Given the description of an element on the screen output the (x, y) to click on. 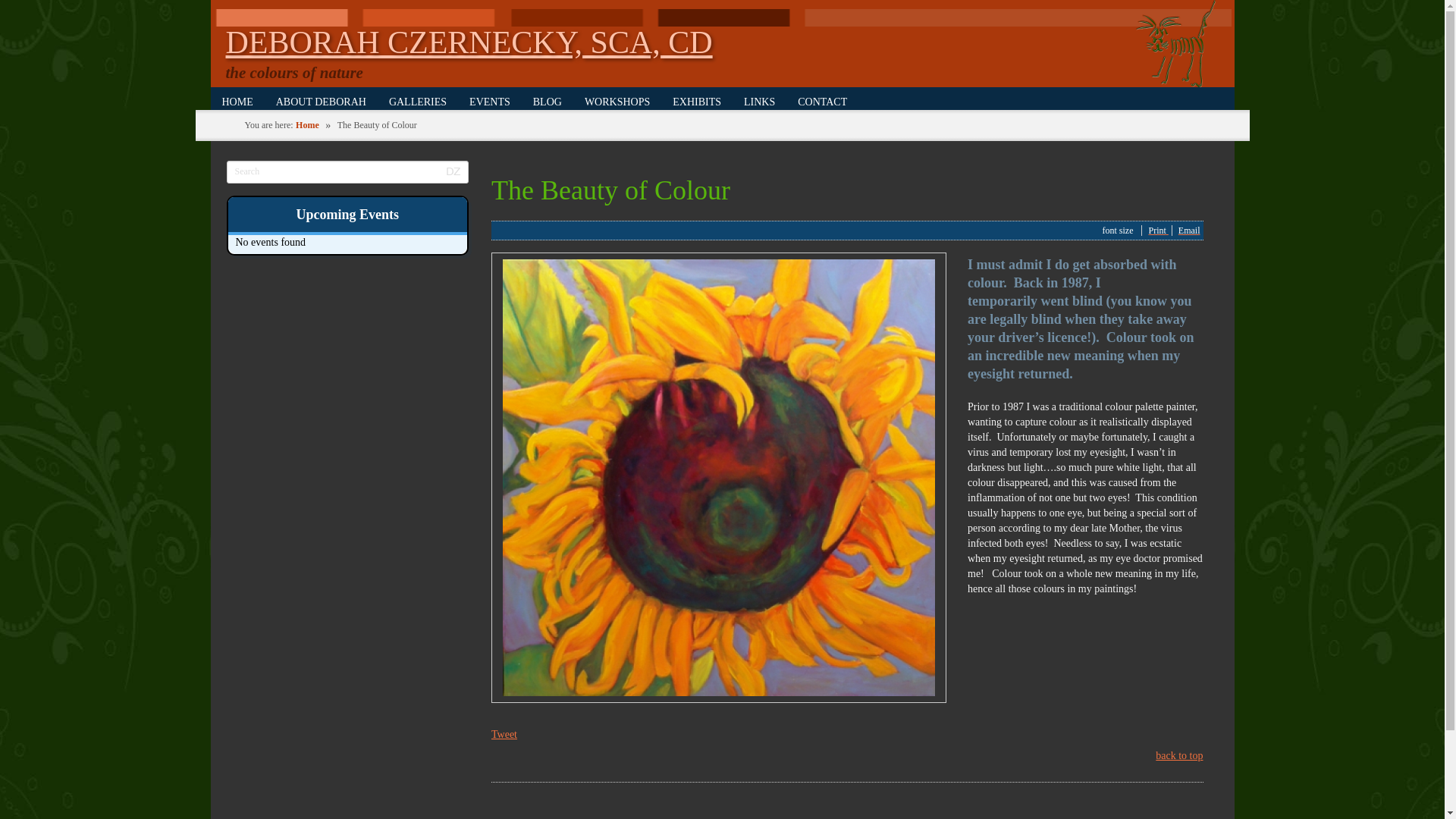
LINKS (759, 99)
Tweet (504, 734)
Email (1188, 230)
EXHIBITS (696, 99)
ABOUT DEBORAH (320, 99)
CONTACT (822, 99)
back to top (1179, 755)
Home (306, 124)
DEBORAH CZERNECKY, SCA, CD (469, 42)
Print (1157, 230)
EVENTS (489, 99)
WORKSHOPS (617, 99)
BLOG (547, 99)
HOME (237, 99)
GALLERIES (417, 99)
